Given the description of an element on the screen output the (x, y) to click on. 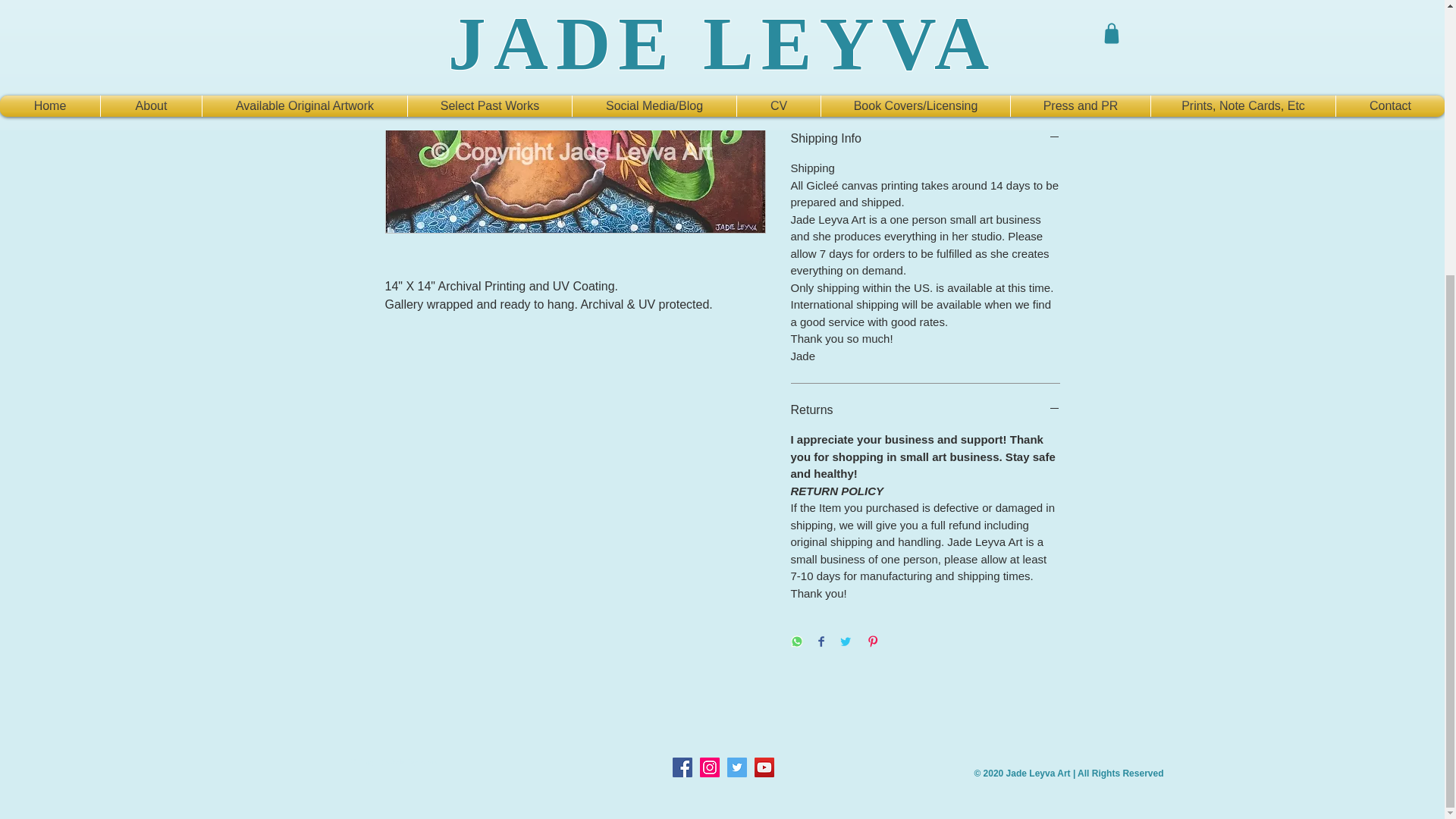
Add to Cart (924, 78)
Shipping Info (924, 138)
1 (818, 23)
Returns (924, 410)
